Given the description of an element on the screen output the (x, y) to click on. 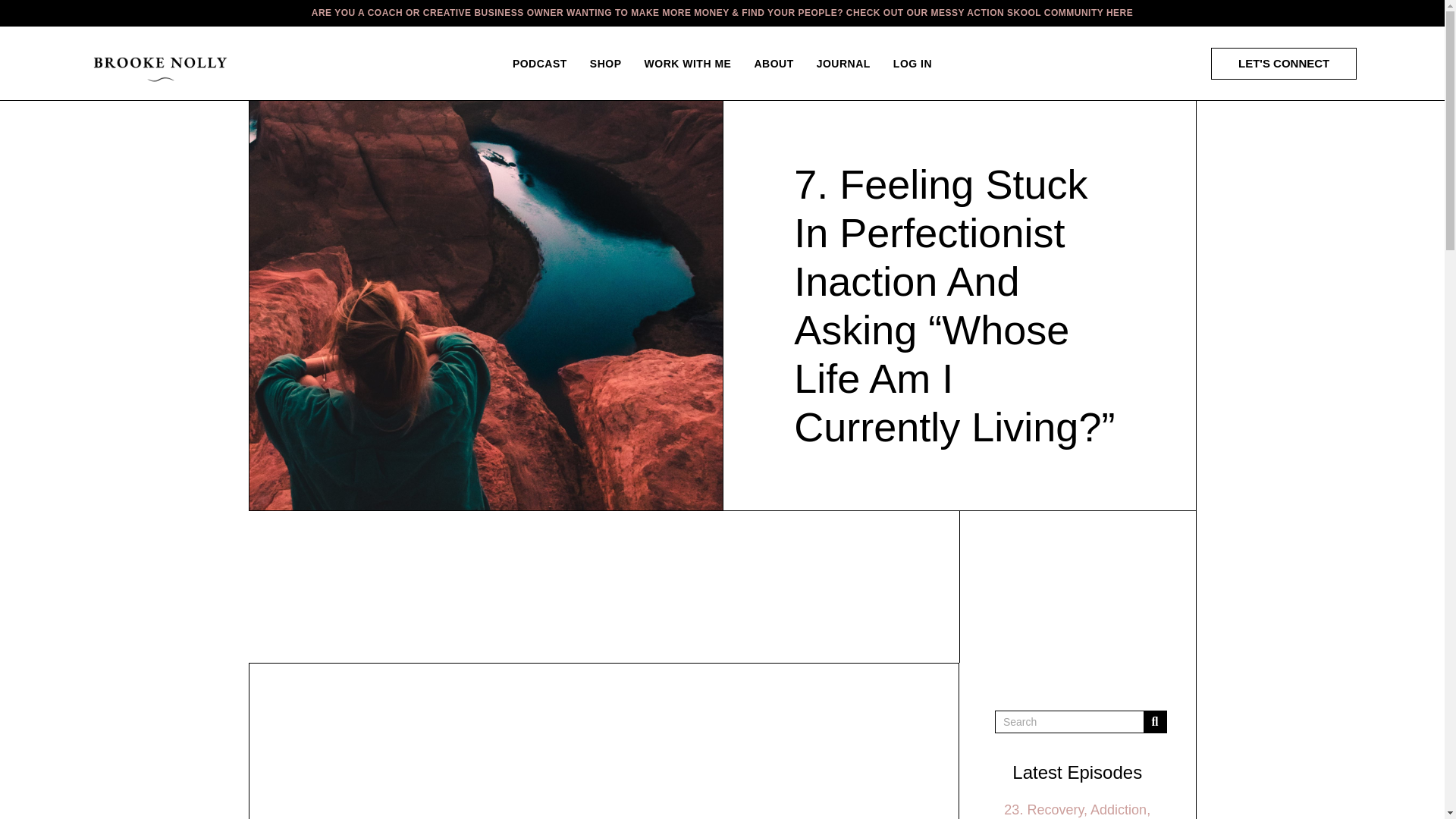
WORK WITH ME (687, 63)
LOG IN (912, 63)
LET'S CONNECT (1283, 63)
PODCAST (539, 63)
ABOUT (773, 63)
MESSY ACTION SKOOL COMMUNITY HERE (1031, 12)
SHOP (605, 63)
JOURNAL (843, 63)
SEARCH (1154, 721)
